Given the description of an element on the screen output the (x, y) to click on. 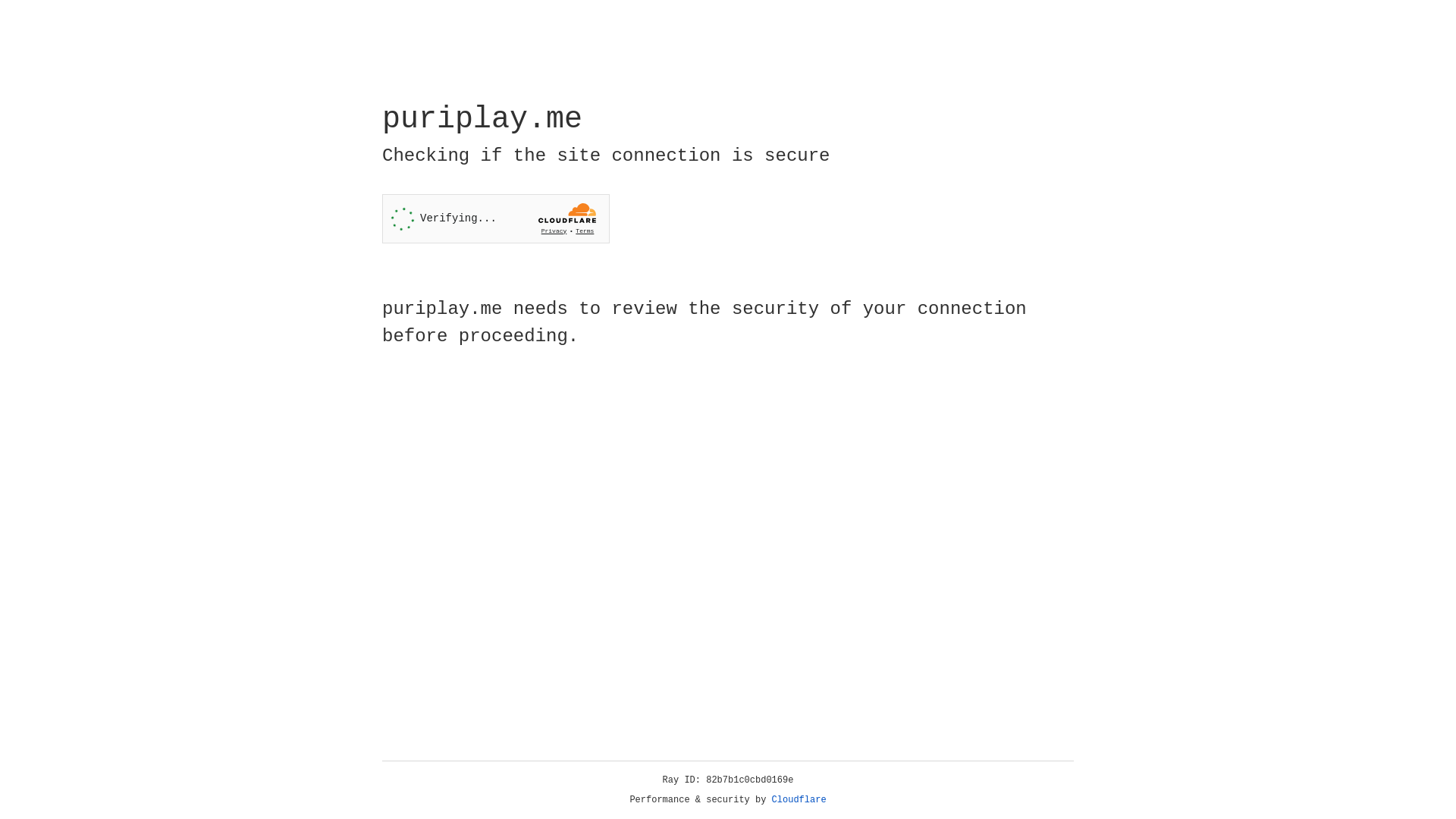
Cloudflare Element type: text (798, 799)
Widget containing a Cloudflare security challenge Element type: hover (495, 218)
